Given the description of an element on the screen output the (x, y) to click on. 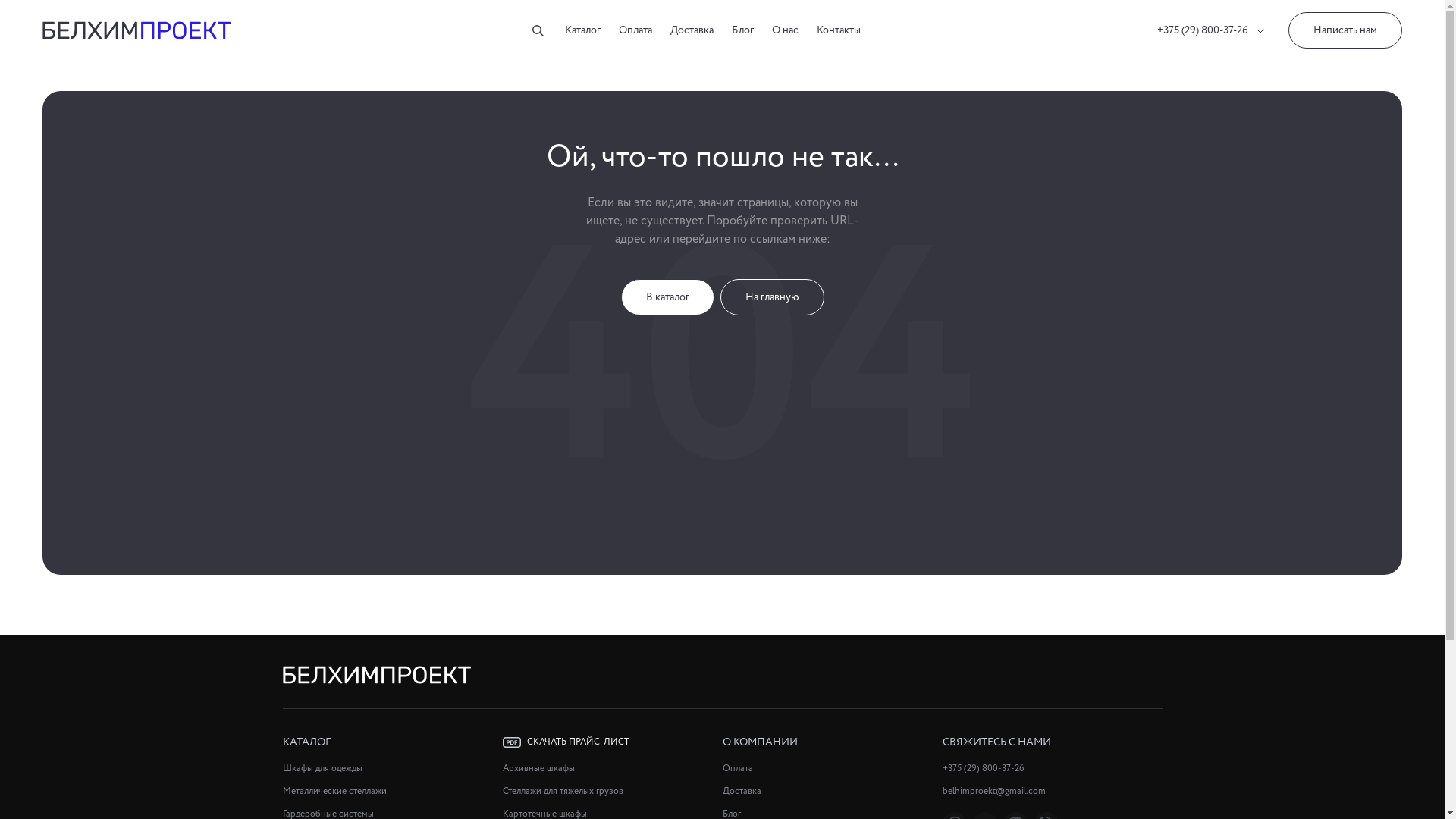
+375 (29) 800-37-26 Element type: text (1210, 29)
+375 (29) 800-37-26 Element type: text (1051, 768)
belhimproekt@gmail.com Element type: text (1051, 791)
